Given the description of an element on the screen output the (x, y) to click on. 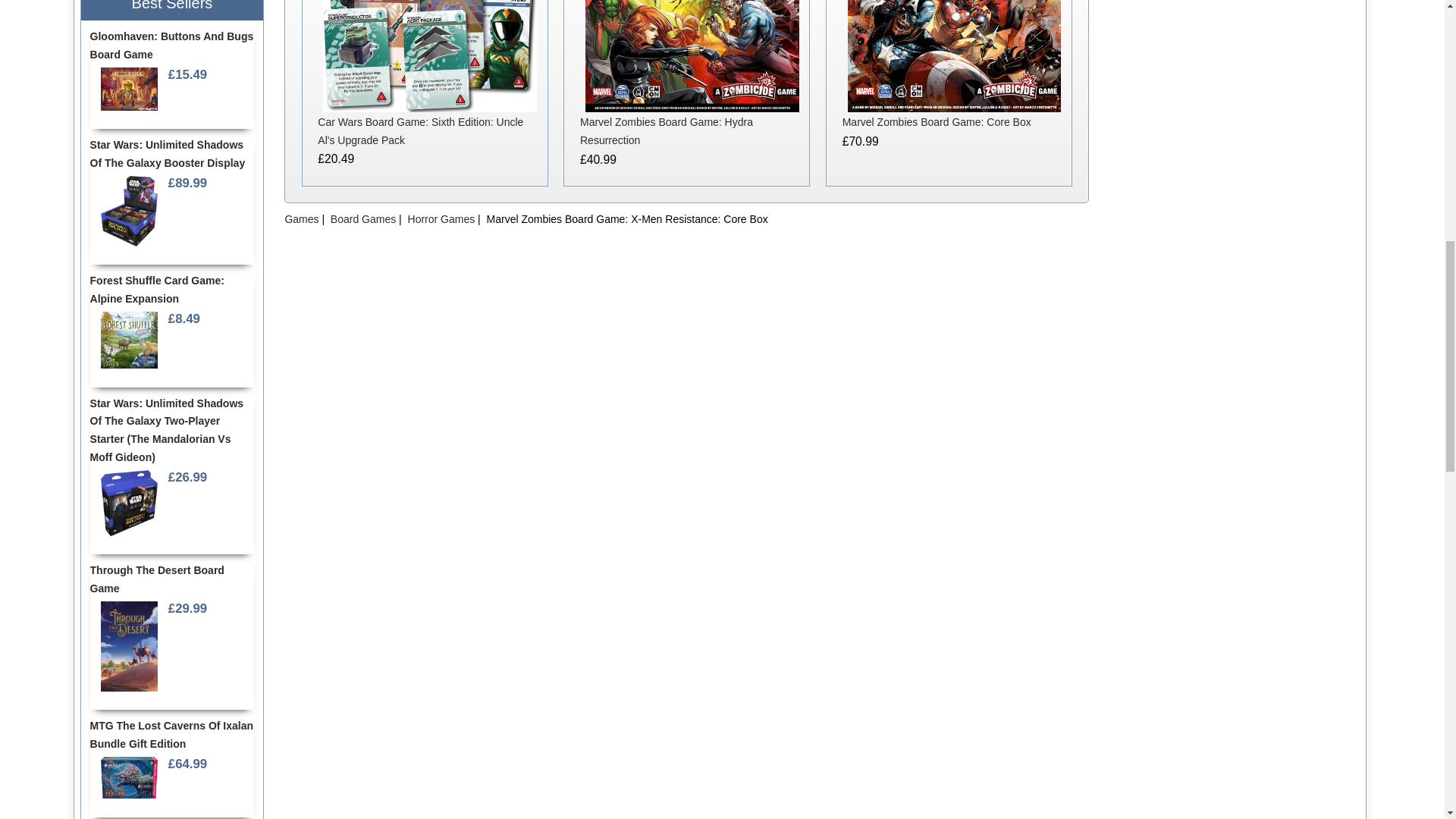
MTG The Lost Caverns Of Ixalan Bundle Gift Edition (128, 777)
Marvel Zombies Board Game: Core Box (954, 56)
Marvel Zombies Board Game: Hydra Resurrection (692, 56)
Car Wars Board Game: Sixth Edition: Uncle Al's Upgrade Pack (430, 56)
Gloomhaven: Buttons And Bugs Board Game (128, 88)
Forest Shuffle Card Game: Alpine Expansion (128, 340)
Through The Desert Board Game (128, 646)
Star Wars: Unlimited Shadows Of The Galaxy Booster Display (128, 210)
